Given the description of an element on the screen output the (x, y) to click on. 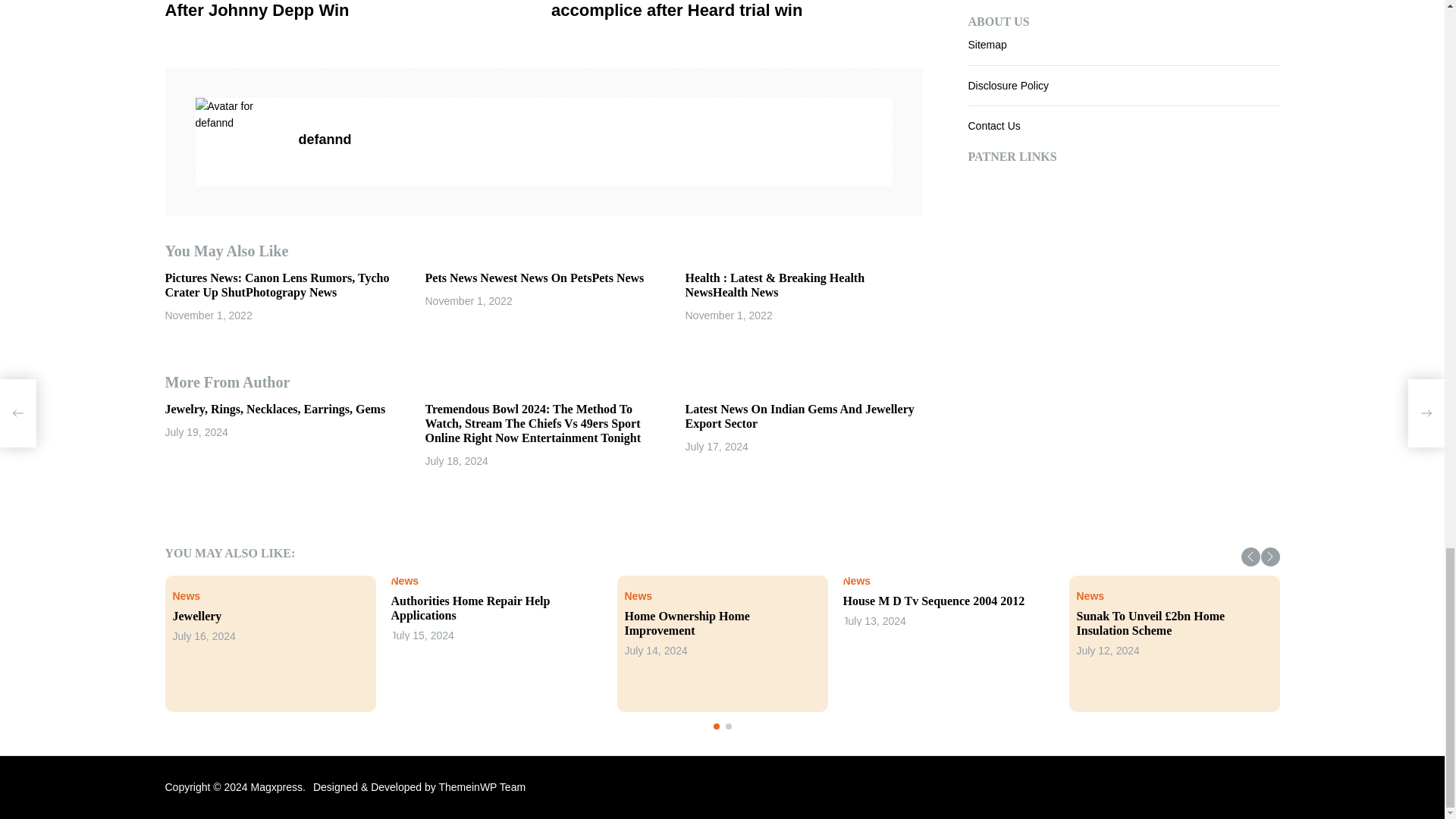
defannd (239, 114)
defannd (595, 139)
